Given the description of an element on the screen output the (x, y) to click on. 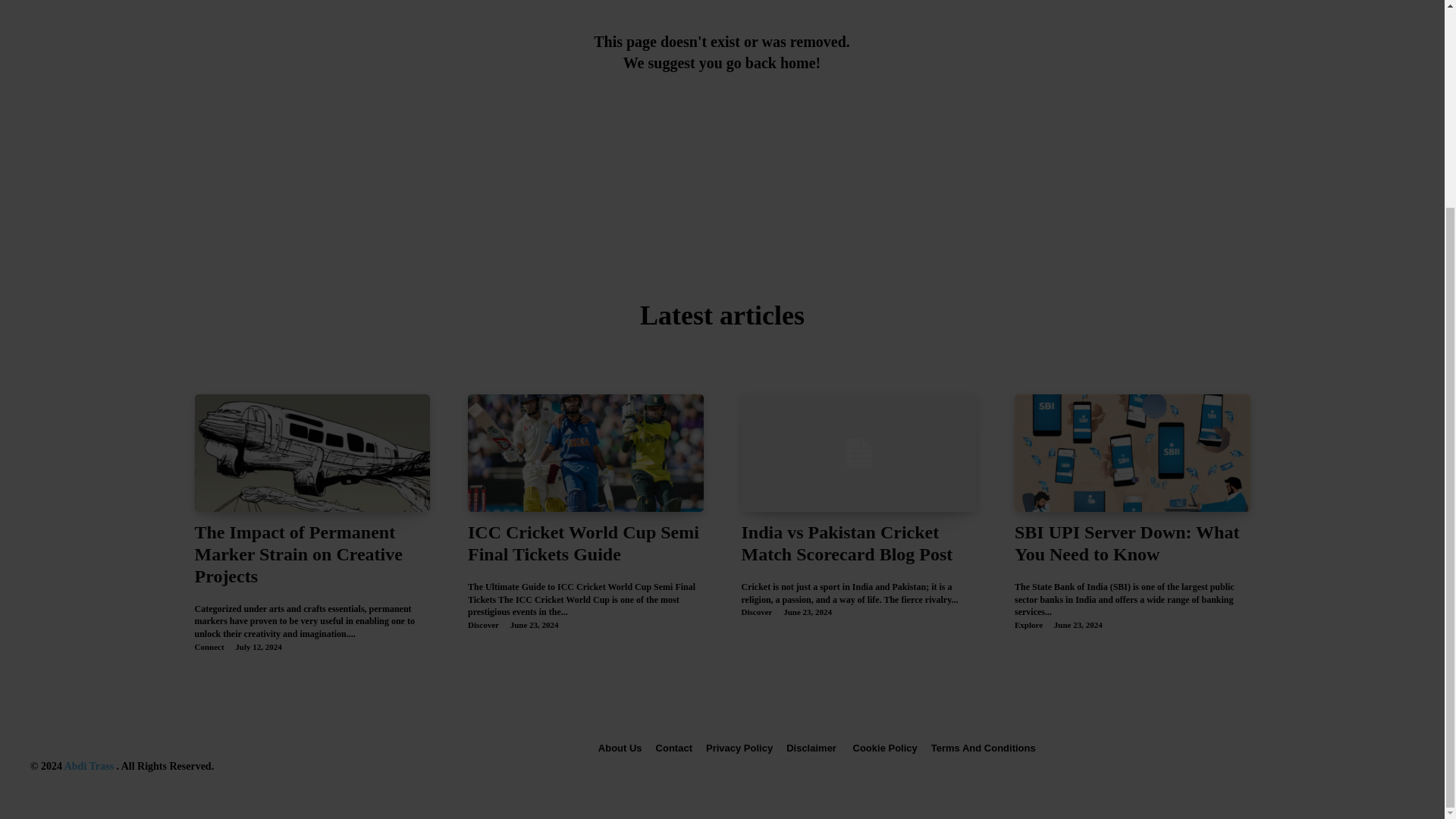
India vs Pakistan Cricket Match Scorecard Blog Post (858, 452)
The Impact of Permanent Marker Strain on Creative Projects (297, 554)
Back to Home (721, 121)
ICC Cricket World Cup Semi Final Tickets Guide (582, 543)
Back to Home (721, 121)
SBI UPI Server Down: What You Need to Know (1126, 543)
The Impact of Permanent Marker Strain on Creative Projects (297, 554)
India vs Pakistan Cricket Match Scorecard Blog Post (847, 543)
The Impact of Permanent Marker Strain on Creative Projects (311, 452)
SBI UPI Server Down: What You Need to Know (1132, 452)
ICC Cricket World Cup Semi Final Tickets Guide (585, 452)
